Given the description of an element on the screen output the (x, y) to click on. 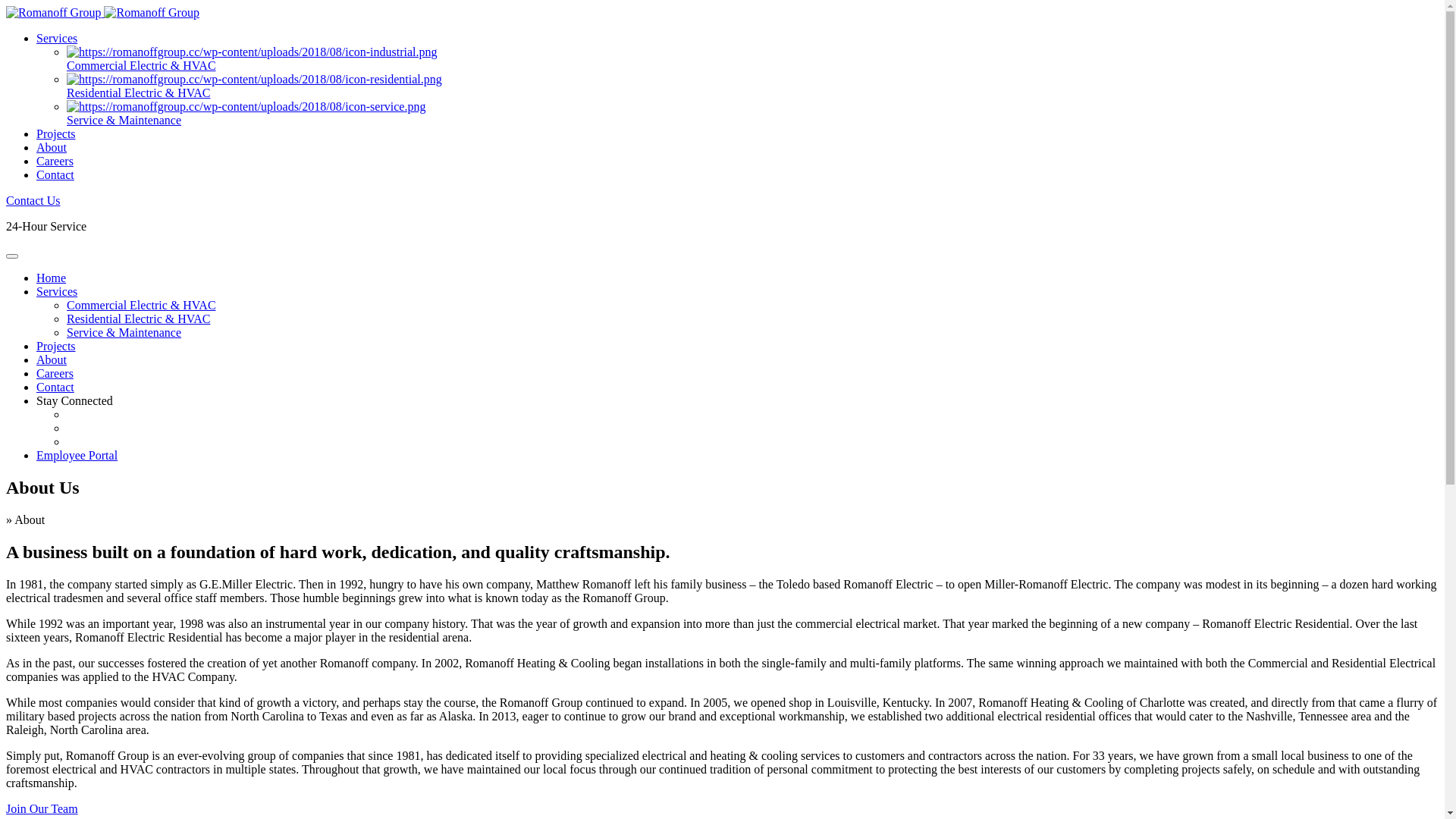
Contact Element type: text (55, 386)
Commercial Electric & HVAC Element type: text (752, 58)
Employee Portal Element type: text (76, 454)
Careers Element type: text (54, 160)
Contact Us Element type: text (33, 200)
Commercial Electric & HVAC Element type: text (141, 304)
Projects Element type: text (55, 345)
Projects Element type: text (55, 133)
Services Element type: text (56, 37)
Service & Maintenance Element type: text (123, 332)
About Element type: text (51, 359)
Careers Element type: text (54, 373)
Join Our Team Element type: text (42, 808)
Residential Electric & HVAC Element type: text (752, 86)
Residential Electric & HVAC Element type: text (138, 318)
Contact Element type: text (55, 174)
Service & Maintenance Element type: text (752, 113)
About Element type: text (51, 147)
Services Element type: text (56, 291)
Home Element type: text (50, 277)
